Given the description of an element on the screen output the (x, y) to click on. 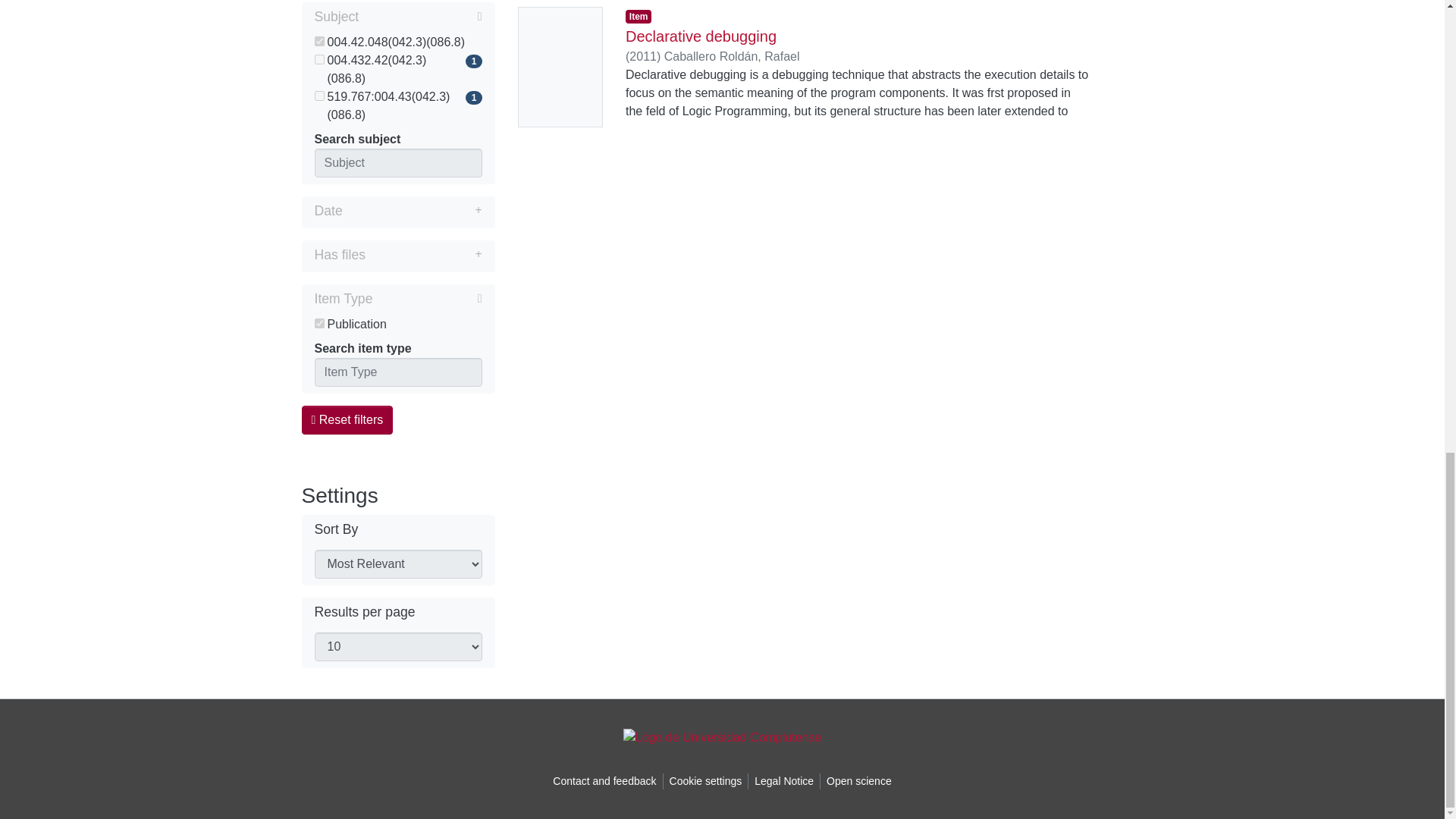
on (318, 59)
Expand filter (411, 210)
on (318, 323)
Collapse filter (419, 16)
on (318, 95)
on (318, 40)
